Given the description of an element on the screen output the (x, y) to click on. 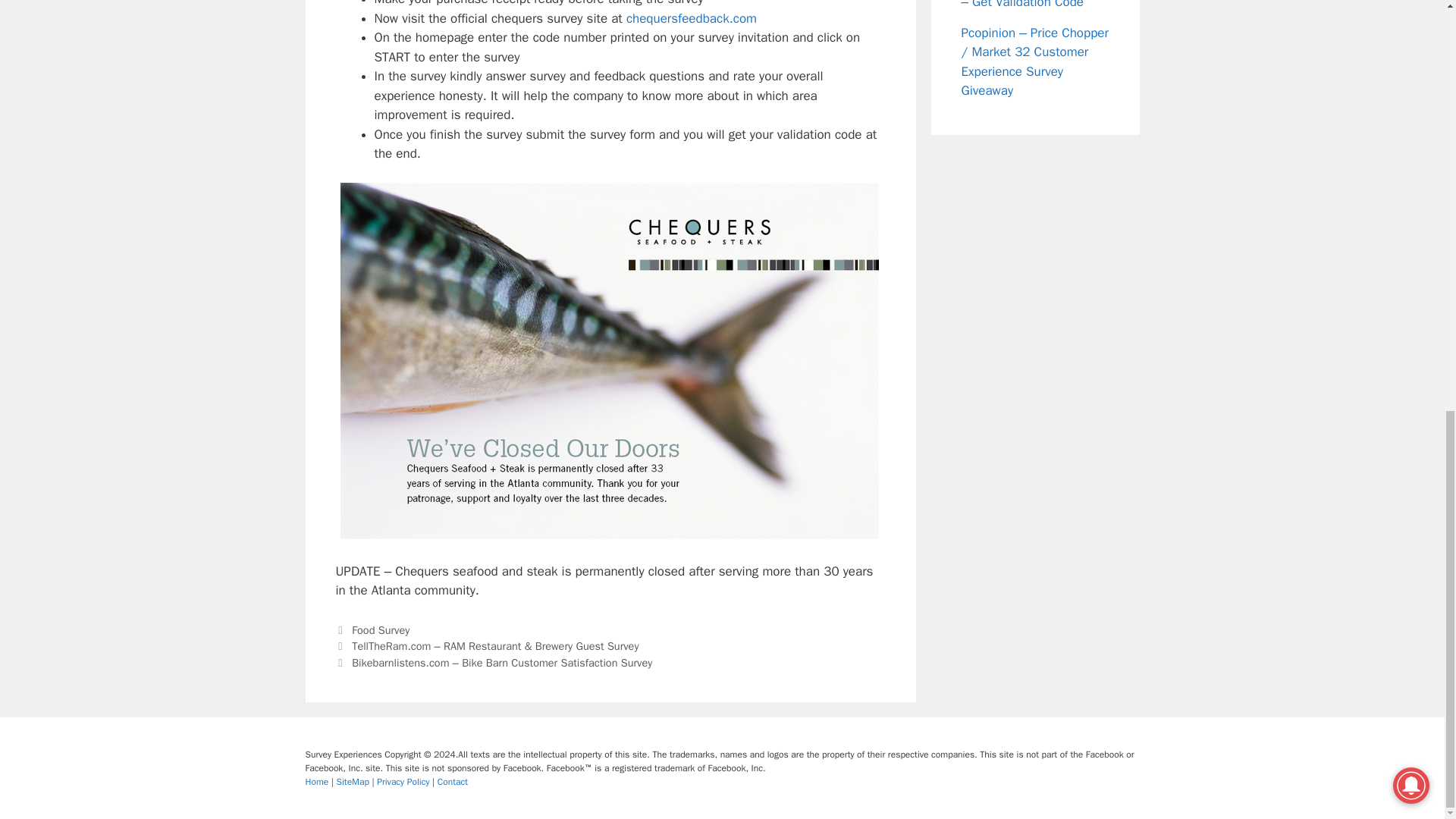
SiteMap (354, 781)
Privacy Policy (404, 781)
chequersfeedback.com (691, 18)
Contact (452, 781)
Food Survey (380, 630)
Home (317, 781)
